Given the description of an element on the screen output the (x, y) to click on. 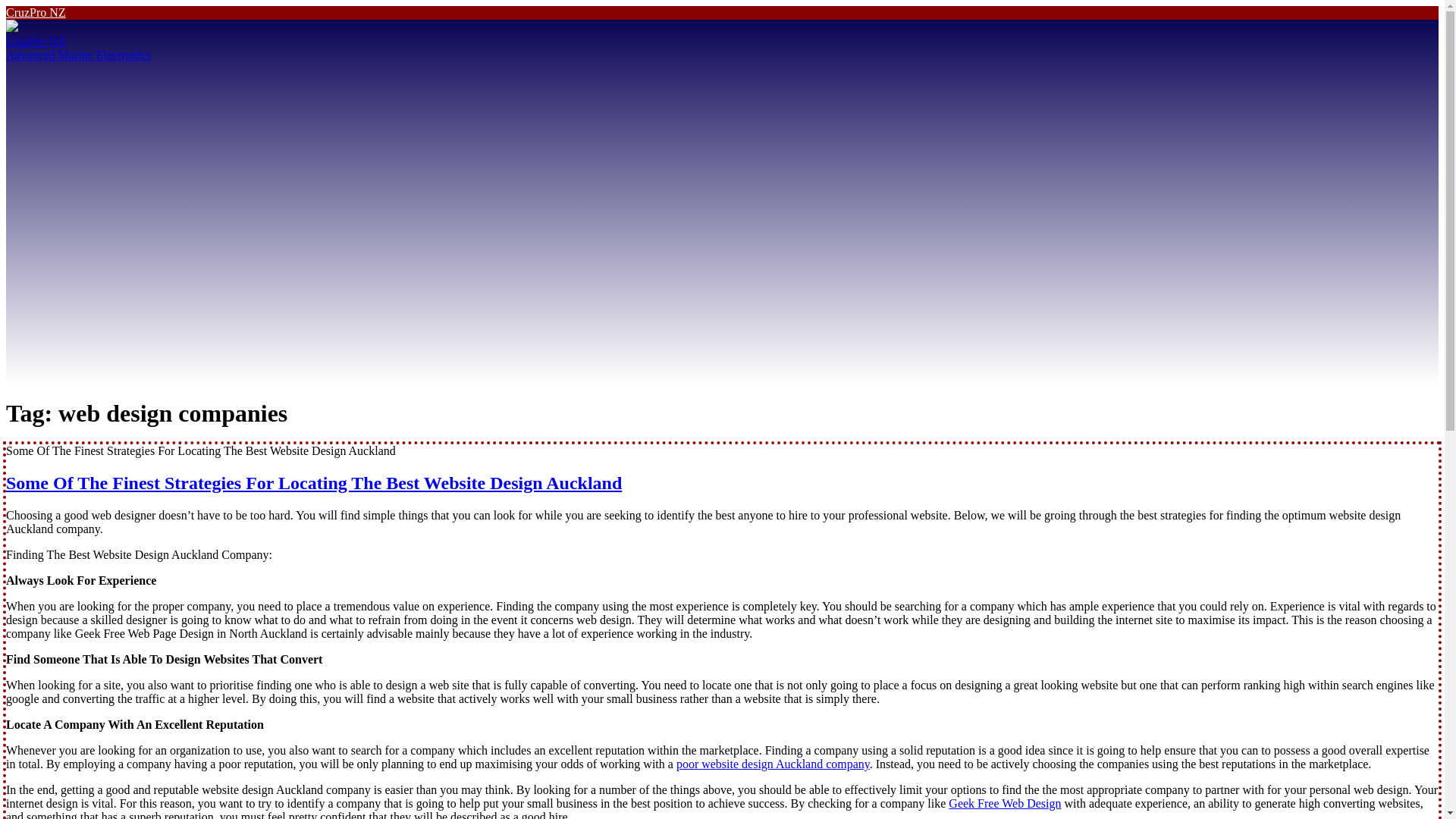
CruzPro NZ (35, 11)
Geek Free Web Design (1005, 802)
poor website design Auckland company (773, 763)
